Given the description of an element on the screen output the (x, y) to click on. 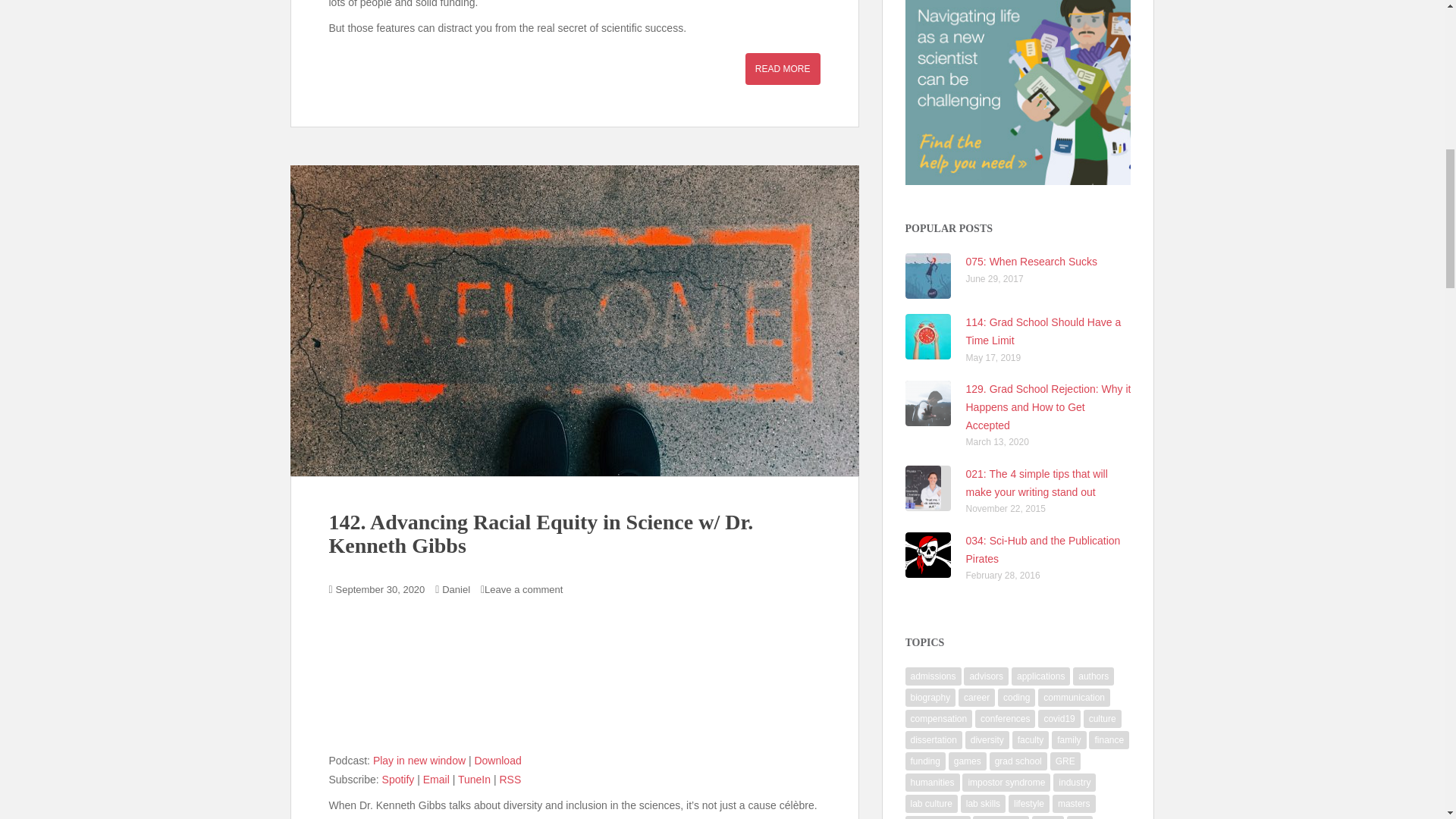
READ MORE (783, 69)
Spotify (397, 779)
TuneIn (474, 779)
Download (497, 760)
Blubrry Podcast Player (575, 683)
Subscribe via RSS (510, 779)
Download (497, 760)
Play in new window (418, 760)
September 30, 2020 (380, 589)
Subscribe on Spotify (397, 779)
Leave a comment (523, 589)
Subscribe on TuneIn (474, 779)
Email (436, 779)
RSS (510, 779)
Subscribe by Email (436, 779)
